Given the description of an element on the screen output the (x, y) to click on. 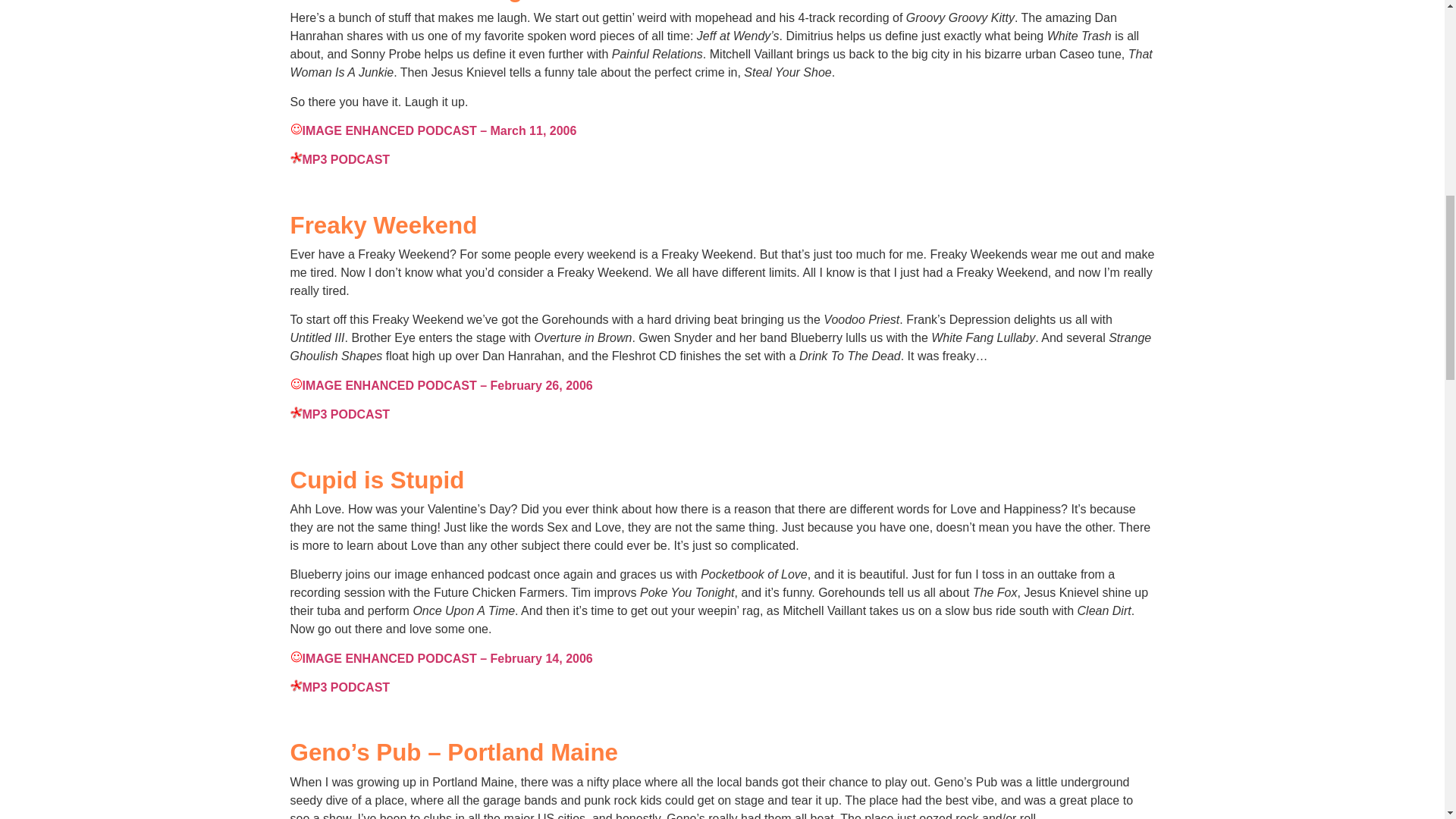
Image Enhanced Podcast (295, 383)
MP3 PODCAST (339, 686)
Cupid is Stupid (376, 479)
Image Enhanced Podcast (295, 128)
MP3 Podcast (295, 685)
MP3 Podcast (295, 157)
MP3 PODCAST (339, 159)
MP3 Podcast (295, 412)
MP3 PODCAST (339, 413)
